Given the description of an element on the screen output the (x, y) to click on. 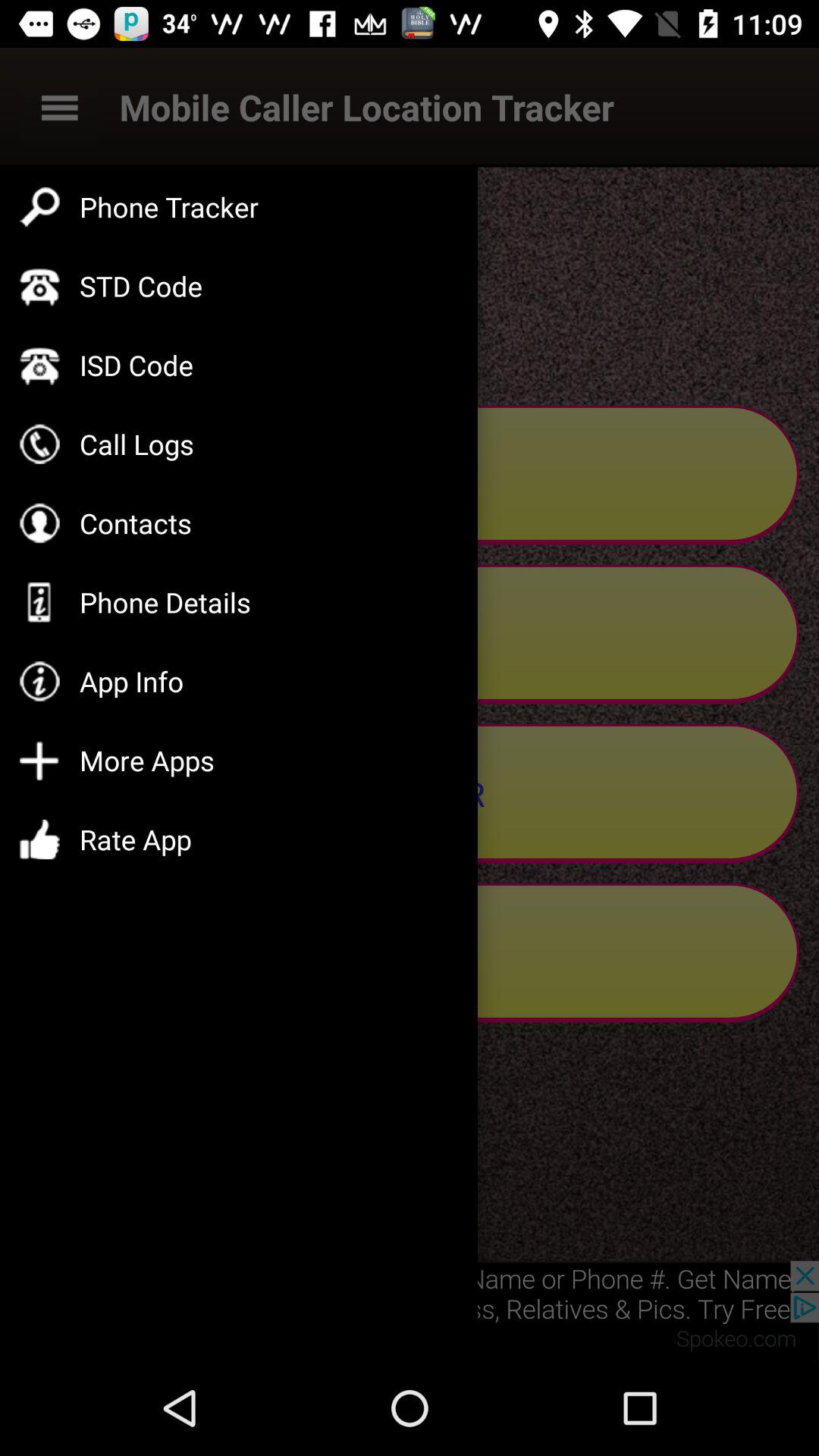
click on icon left to contacts (39, 523)
click on the symbol to the left side of isd code (39, 365)
click on the symbol to the left side of phone tracker (39, 207)
